Given the description of an element on the screen output the (x, y) to click on. 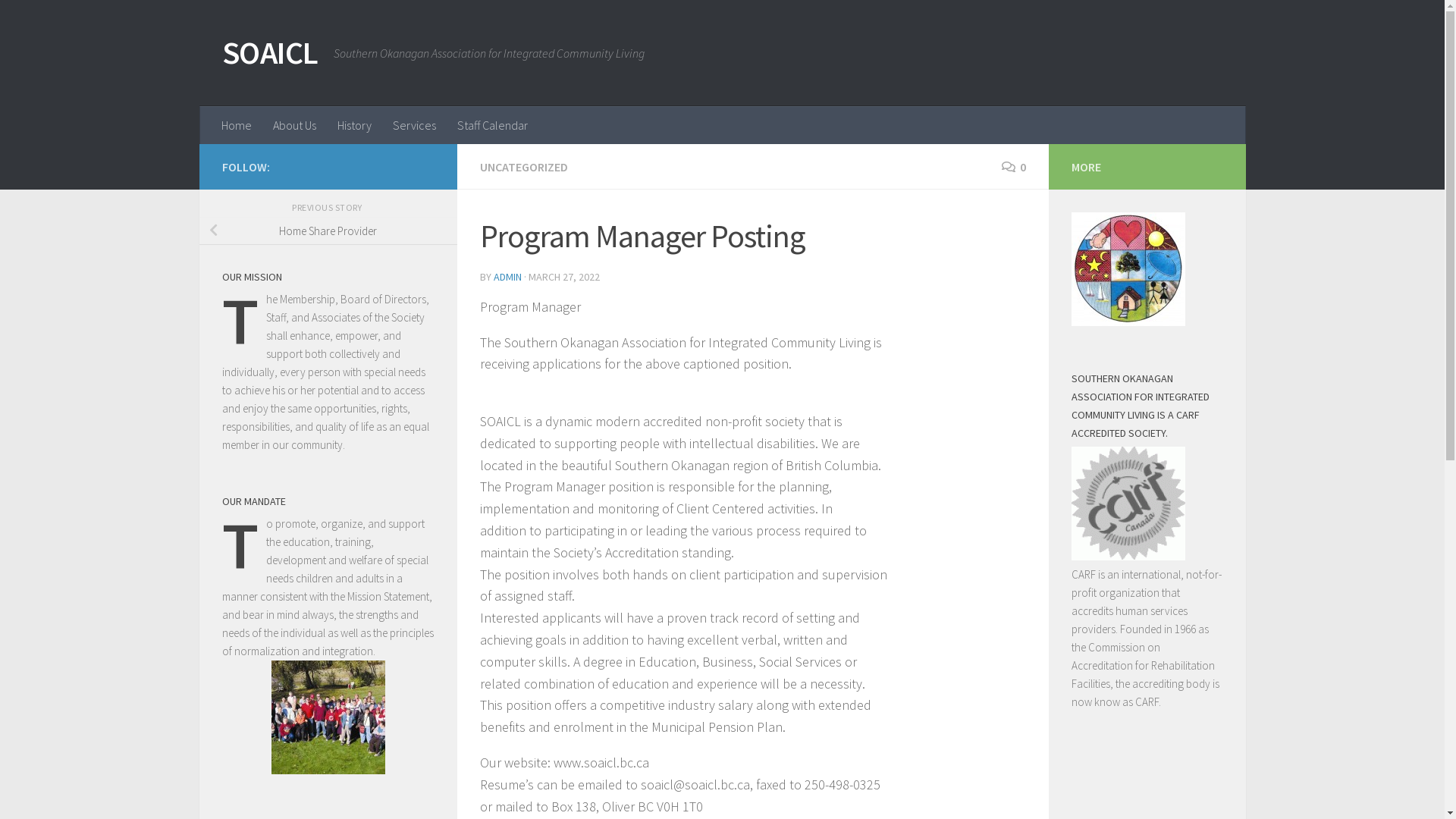
Staff Calendar Element type: text (491, 125)
0 Element type: text (1013, 166)
SOAICL Element type: text (269, 52)
Home Element type: text (236, 125)
About Us Element type: text (294, 125)
Services Element type: text (414, 125)
UNCATEGORIZED Element type: text (523, 166)
Home Share Provider Element type: text (327, 230)
Skip to content Element type: text (62, 21)
ADMIN Element type: text (506, 276)
History Element type: text (353, 125)
